Given the description of an element on the screen output the (x, y) to click on. 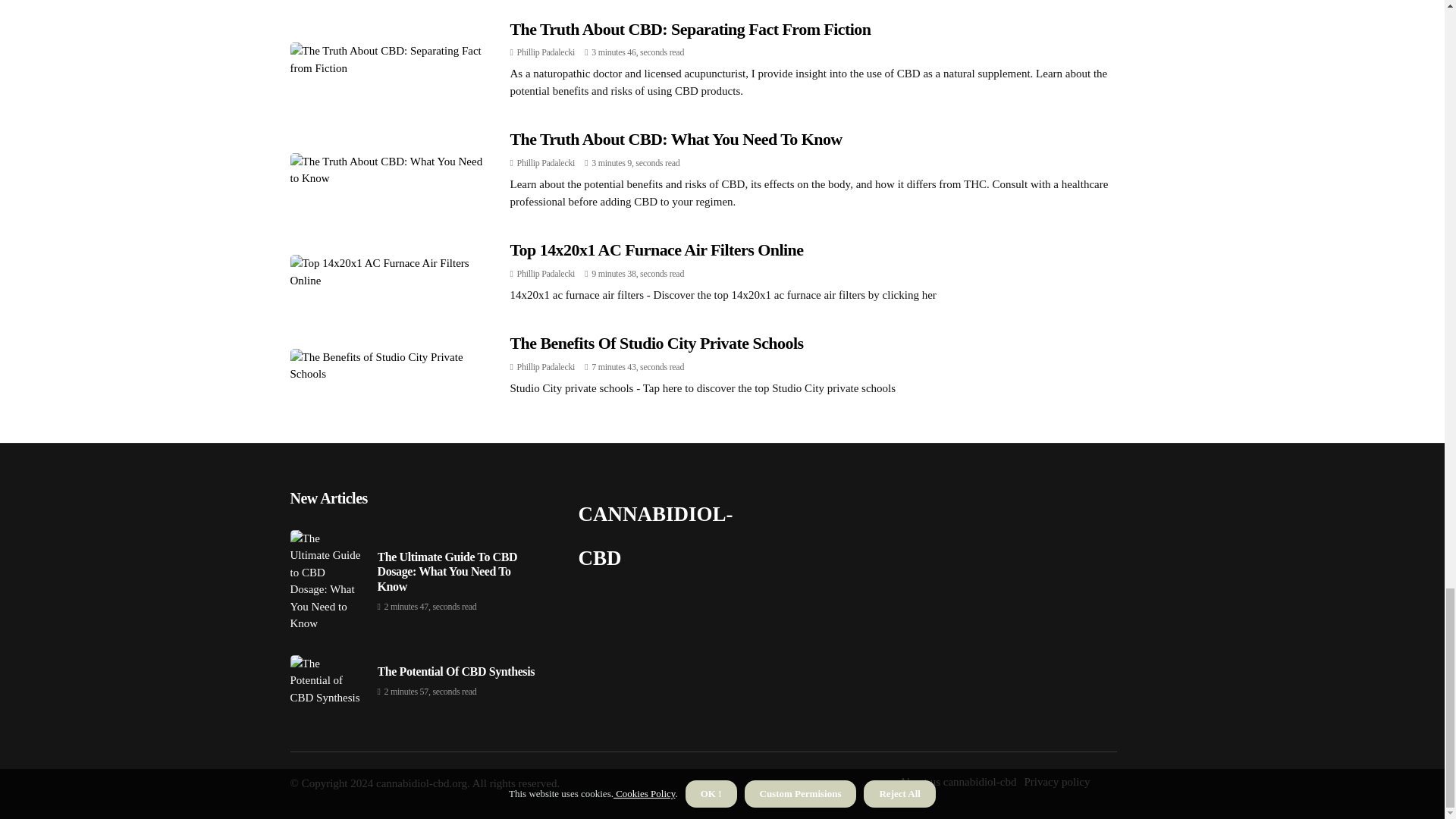
Posts by Phillip Padalecki (545, 51)
Phillip Padalecki (545, 366)
Posts by Phillip Padalecki (545, 273)
The Truth About CBD: What You Need To Know (675, 138)
Posts by Phillip Padalecki (545, 366)
Phillip Padalecki (545, 163)
Phillip Padalecki (545, 51)
Posts by Phillip Padalecki (545, 163)
The Benefits Of Studio City Private Schools (656, 342)
Phillip Padalecki (545, 273)
Top 14x20x1 AC Furnace Air Filters Online (656, 249)
The Truth About CBD: Separating Fact From Fiction (689, 28)
